Given the description of an element on the screen output the (x, y) to click on. 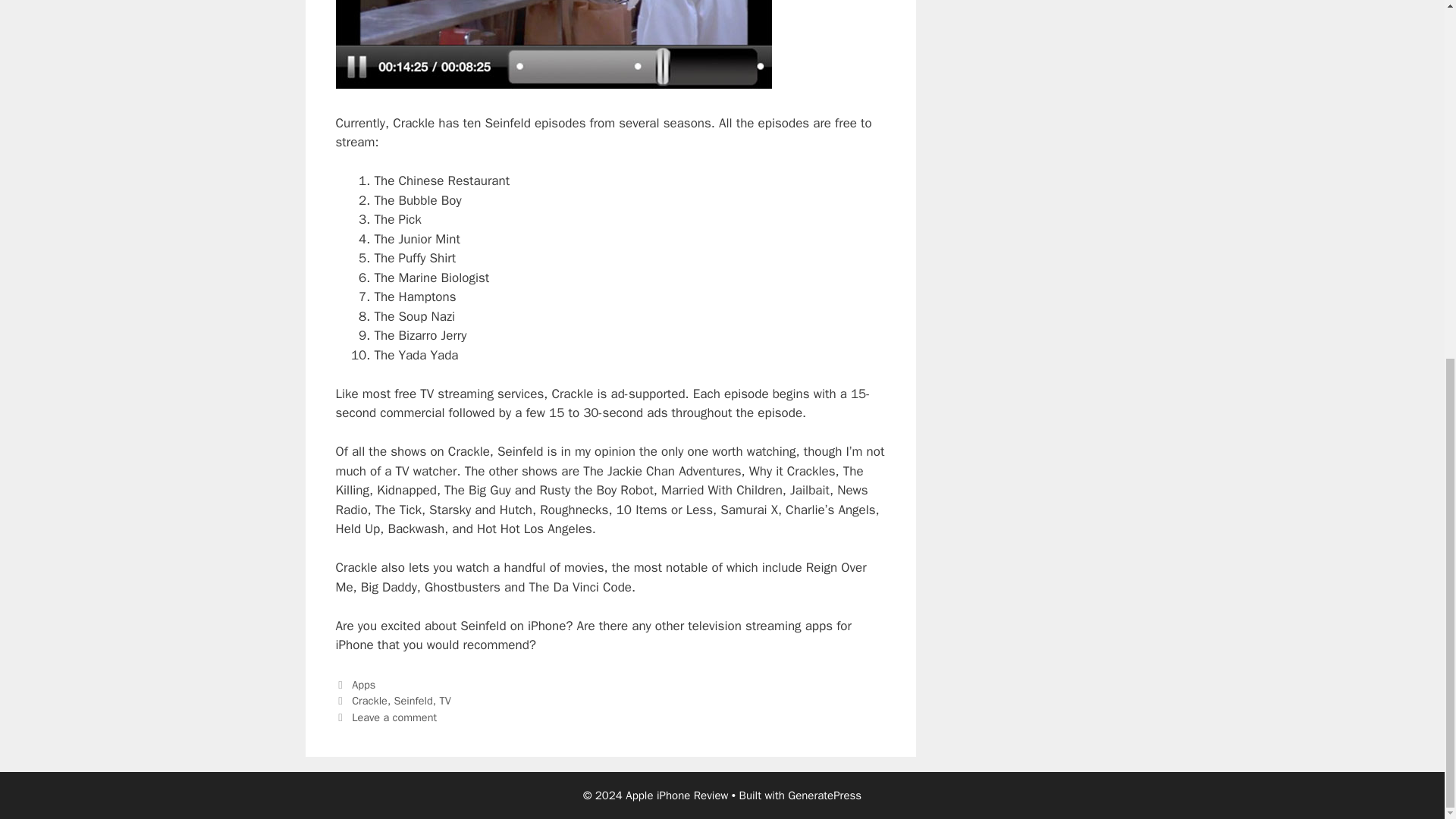
Crackle (369, 700)
GeneratePress (824, 795)
Seinfeld (413, 700)
Apps (363, 684)
Leave a comment (394, 716)
